Given the description of an element on the screen output the (x, y) to click on. 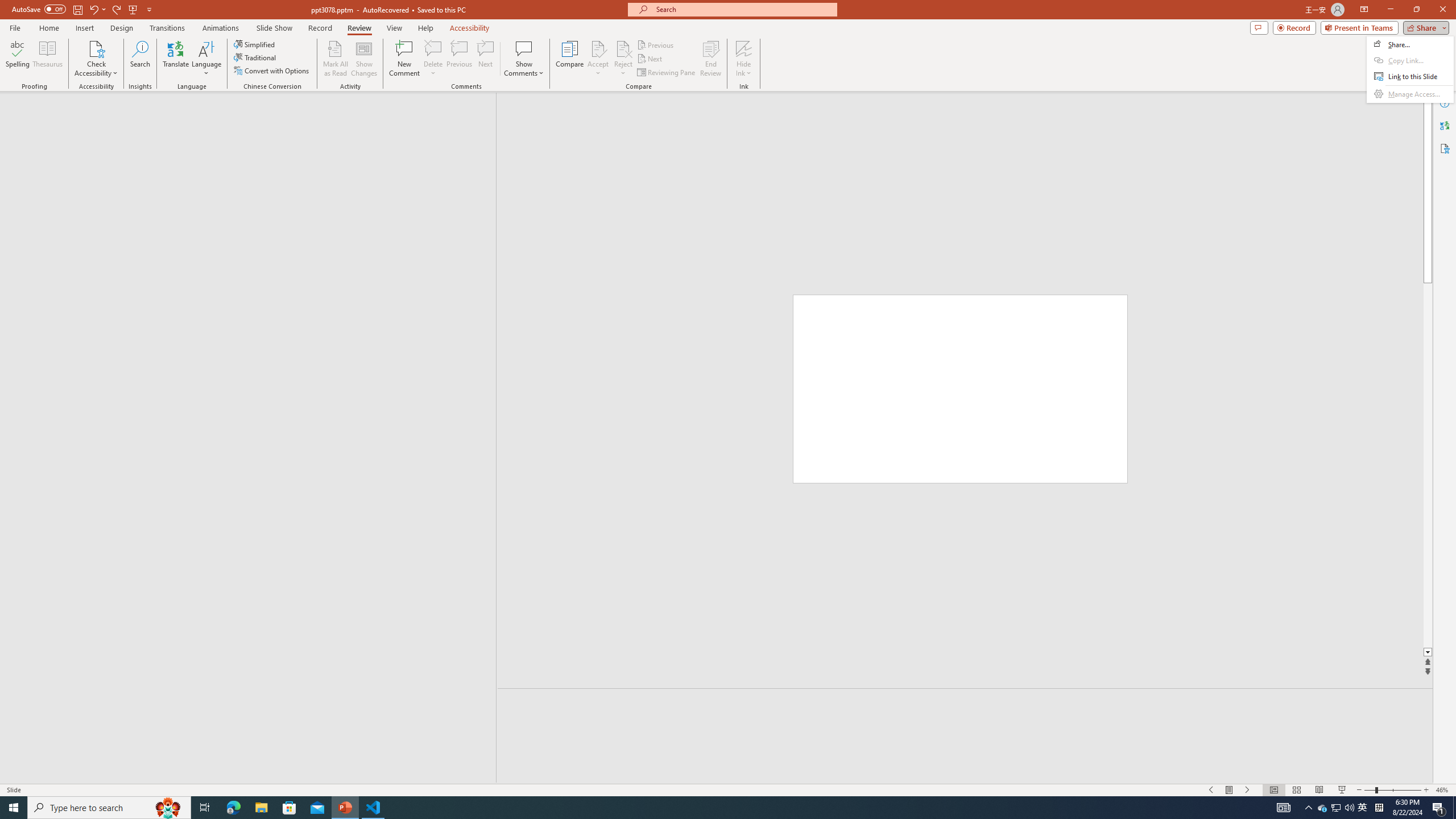
Accept Change (598, 48)
Tray Input Indicator - Chinese (Simplified, China) (1378, 807)
User Promoted Notification Area (1336, 807)
Slide Show Previous On (1211, 790)
Outline (1335, 807)
Visual Studio Code - 1 running window (252, 114)
Rectangle (373, 807)
